Given the description of an element on the screen output the (x, y) to click on. 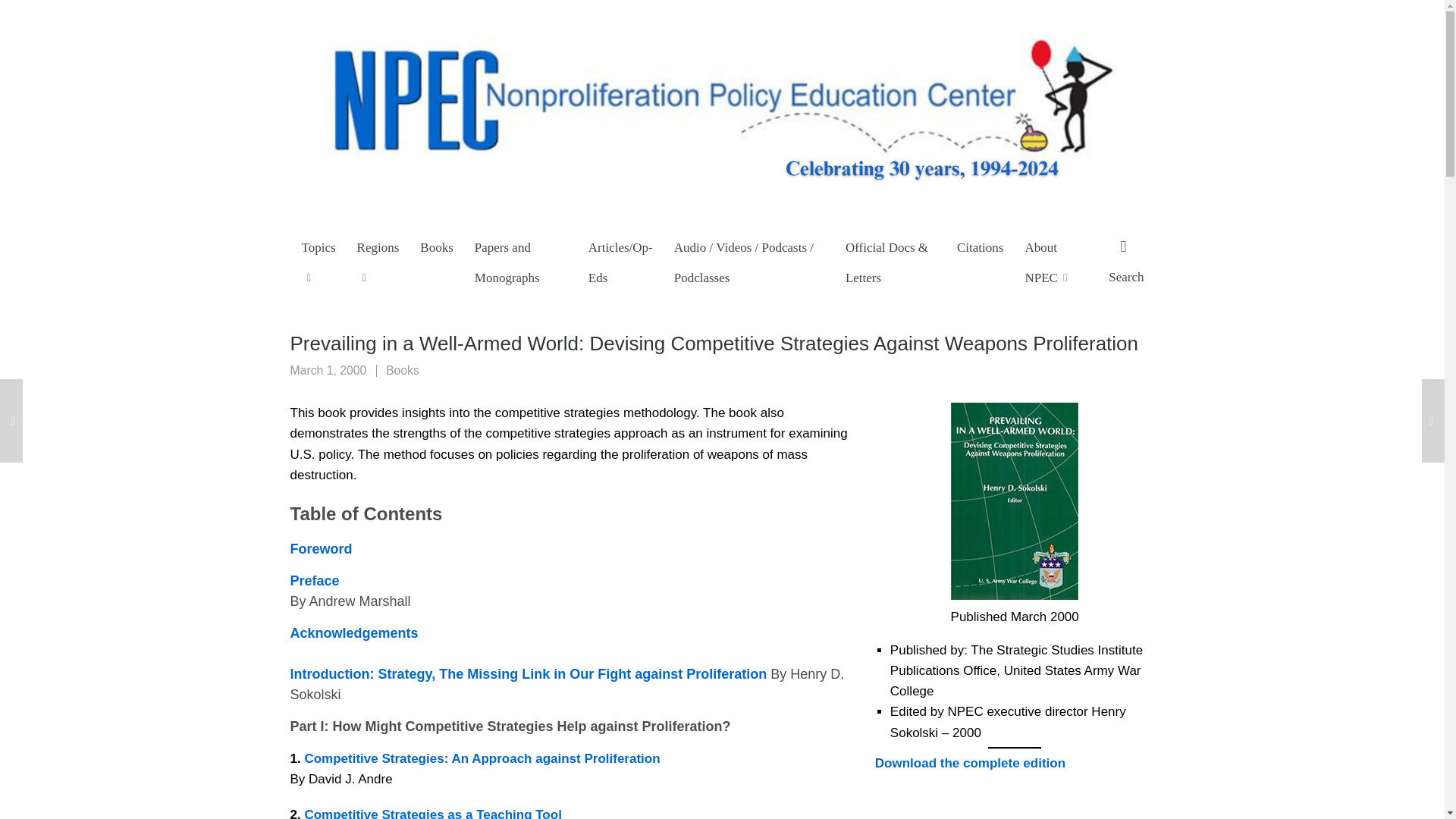
Topics (317, 261)
Papers and Monographs (521, 261)
Regions (378, 261)
Books (436, 246)
